Given the description of an element on the screen output the (x, y) to click on. 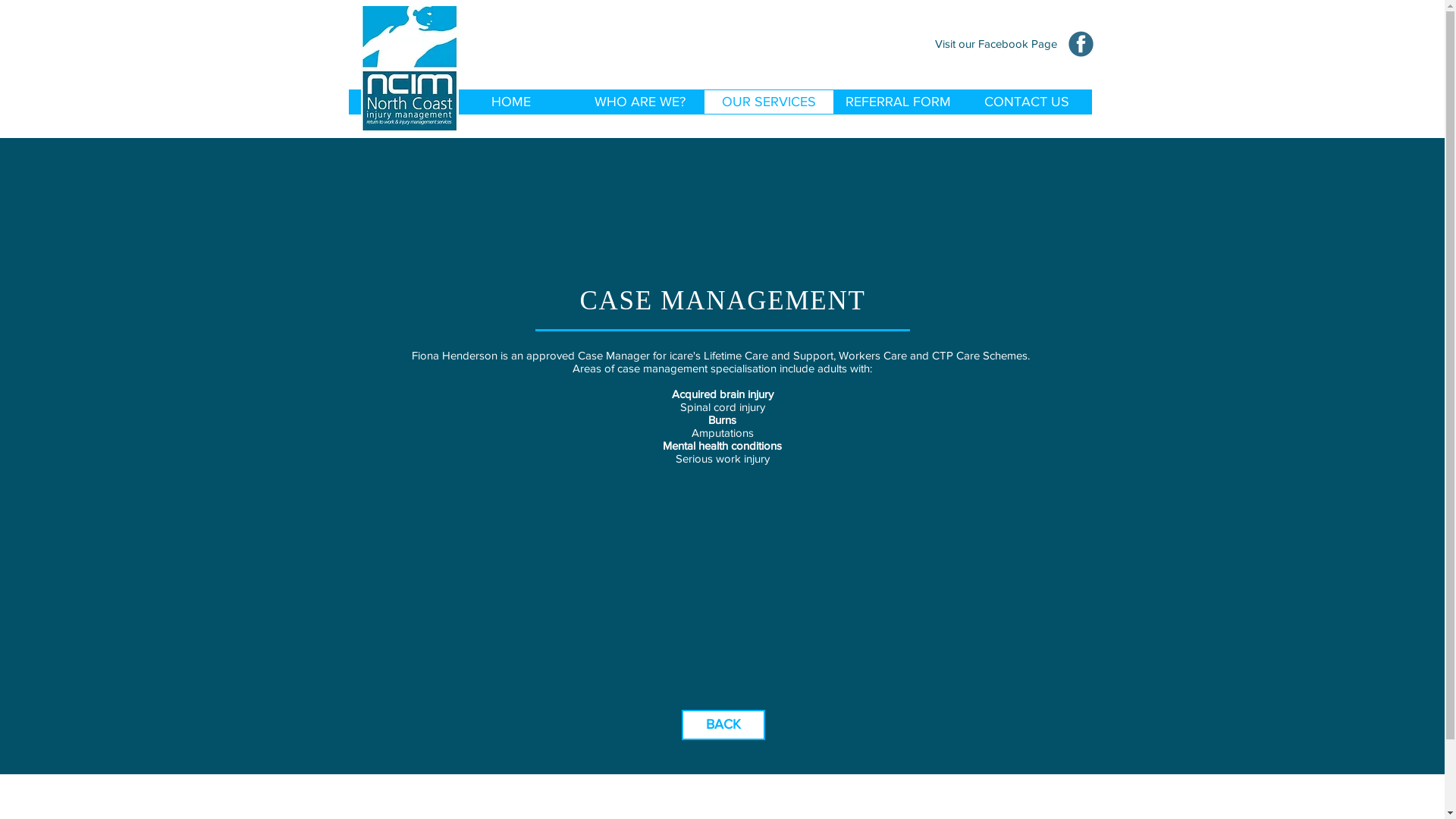
BACK Element type: text (722, 724)
WHO ARE WE? Element type: text (638, 101)
OUR SERVICES Element type: text (767, 101)
HOME Element type: text (509, 101)
CONTACT US Element type: text (1025, 101)
REFERRAL FORM Element type: text (896, 101)
